Given the description of an element on the screen output the (x, y) to click on. 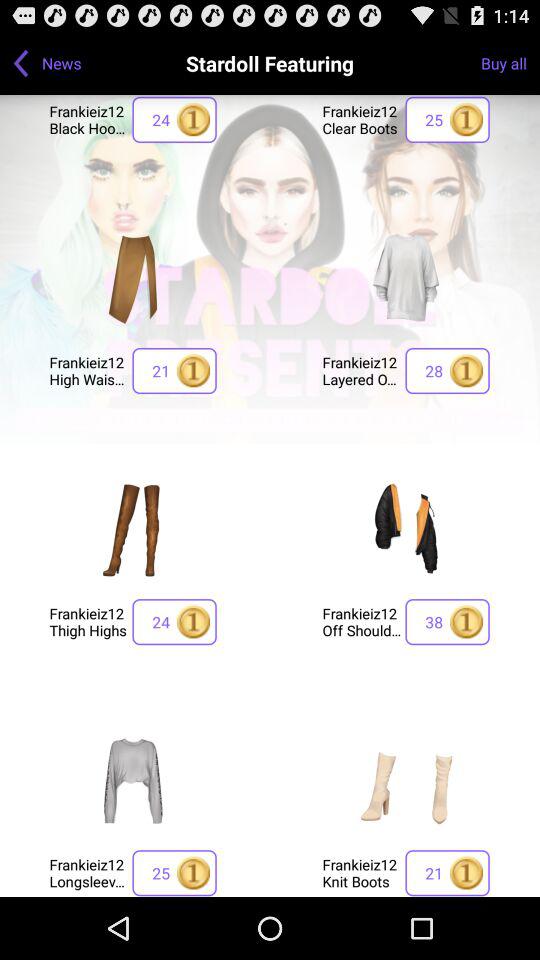
press the buy all icon (510, 62)
